Given the description of an element on the screen output the (x, y) to click on. 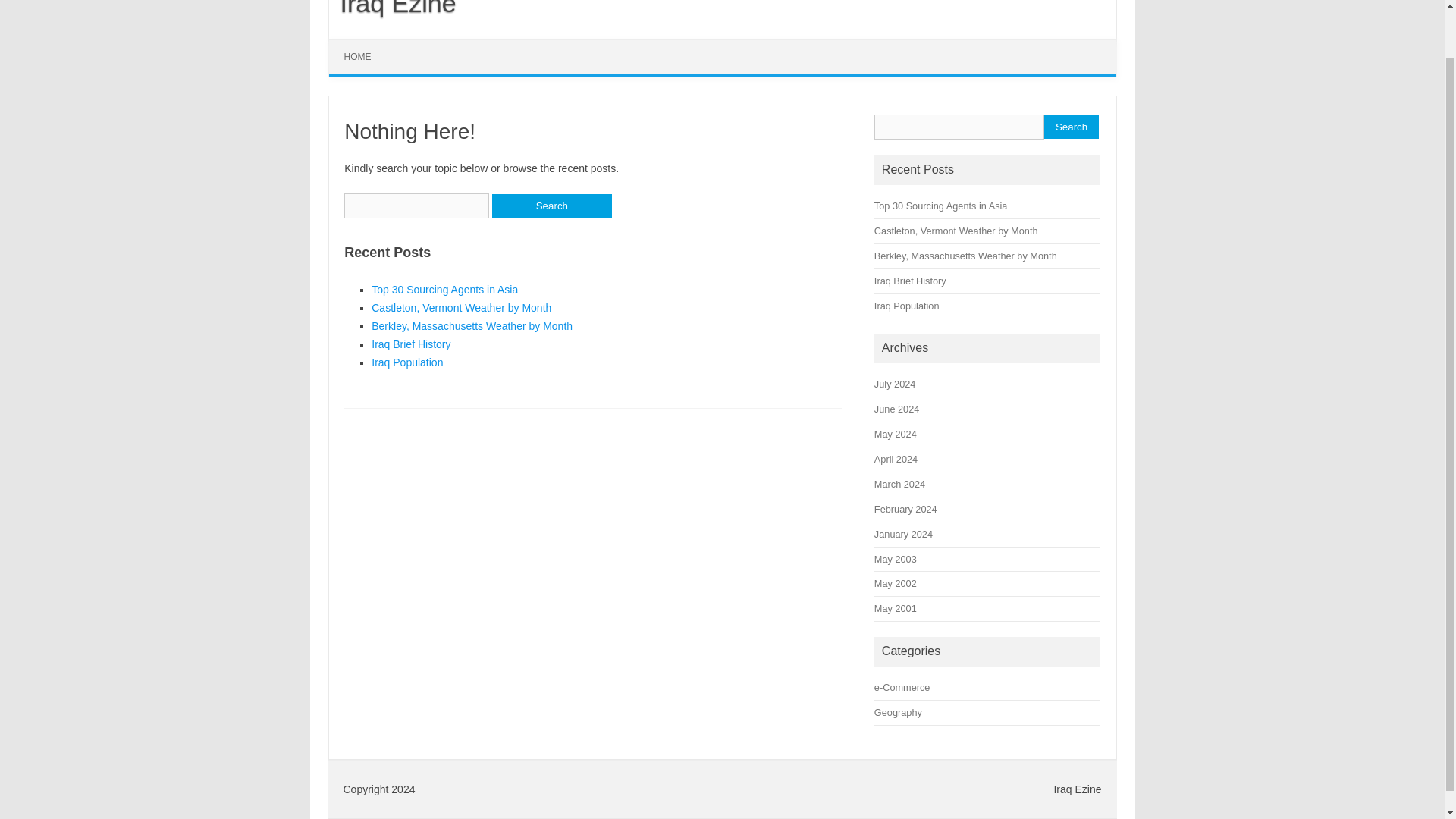
Search (1070, 126)
January 2024 (904, 533)
Iraq Population (907, 305)
Berkley, Massachusetts Weather by Month (966, 255)
March 2024 (899, 483)
Iraq Ezine (393, 8)
Berkley, Massachusetts Weather by Month (471, 326)
Search (551, 205)
Skip to content (363, 44)
May 2002 (896, 583)
Iraq Ezine (393, 8)
Search (551, 205)
July 2024 (895, 383)
June 2024 (896, 408)
Iraq Population (406, 362)
